Given the description of an element on the screen output the (x, y) to click on. 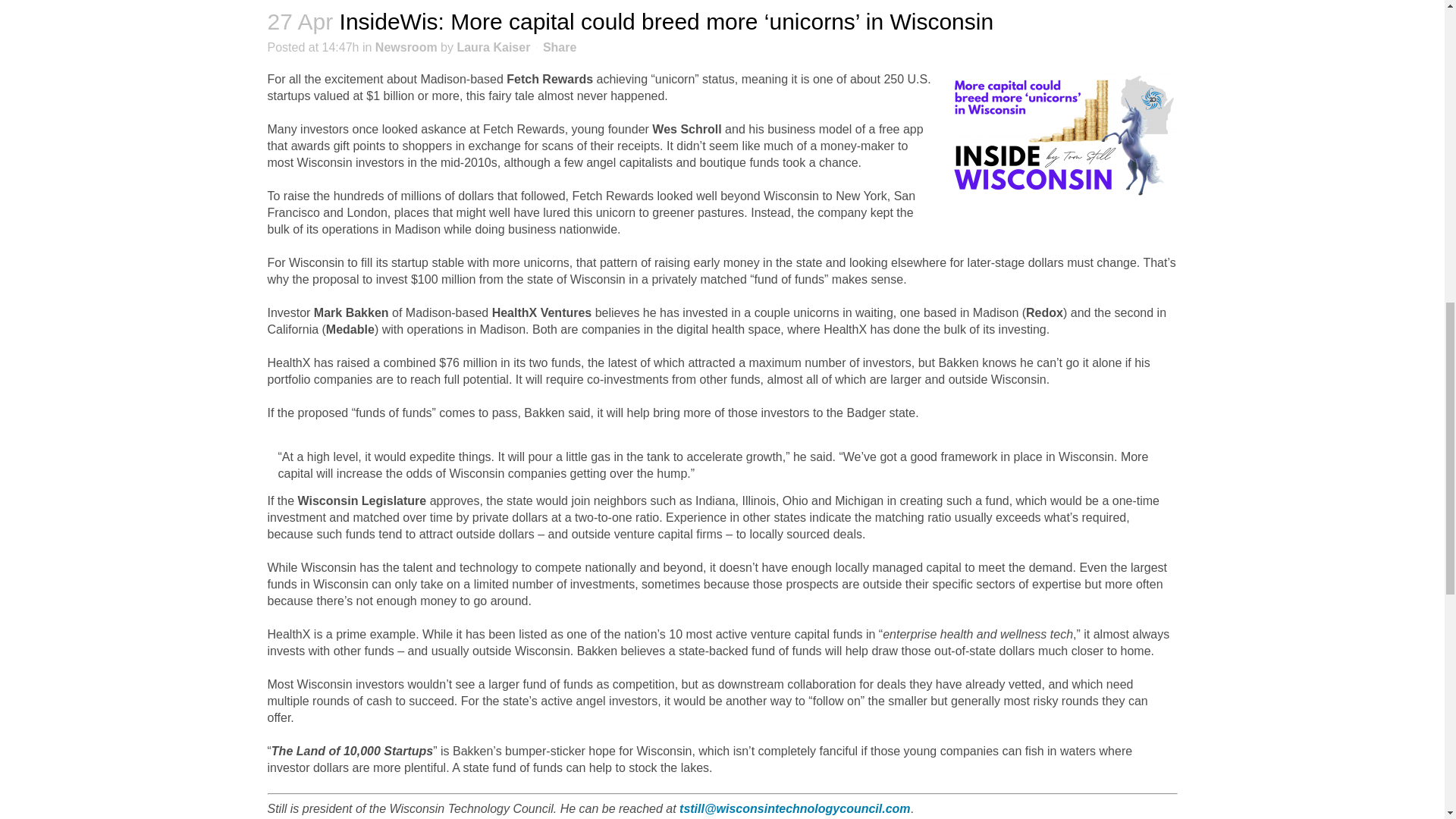
Newsroom (406, 47)
Share (559, 47)
Laura Kaiser (493, 47)
